Given the description of an element on the screen output the (x, y) to click on. 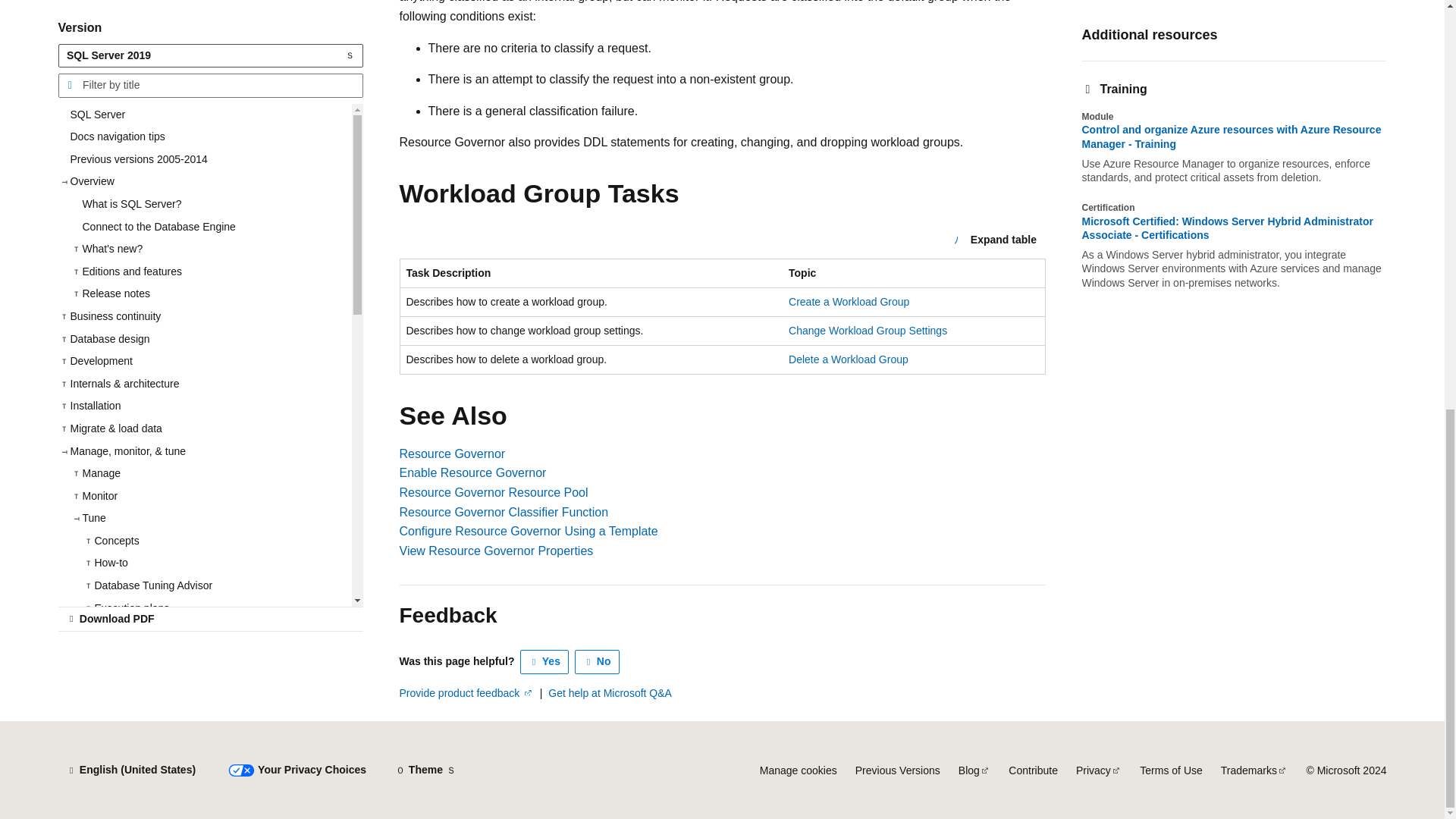
This article is not helpful (597, 662)
This article is helpful (544, 662)
Theme (425, 770)
